Given the description of an element on the screen output the (x, y) to click on. 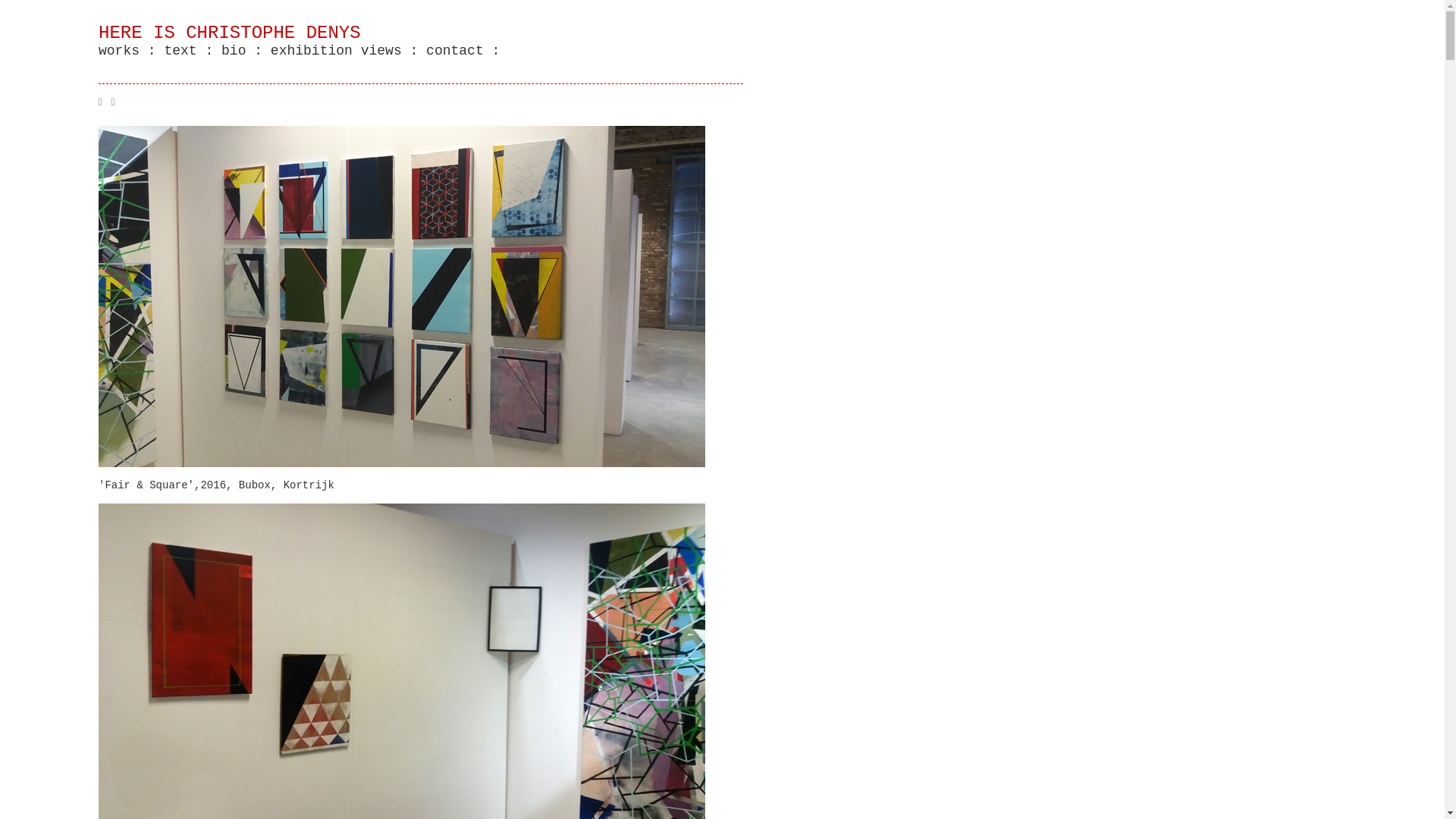
HERE IS CHRISTOPHE DENYS Element type: text (229, 32)
text : Element type: text (184, 50)
works : Element type: text (127, 50)
contact : Element type: text (458, 50)
exhibition views : Element type: text (339, 50)
bio : Element type: text (237, 50)
